Given the description of an element on the screen output the (x, y) to click on. 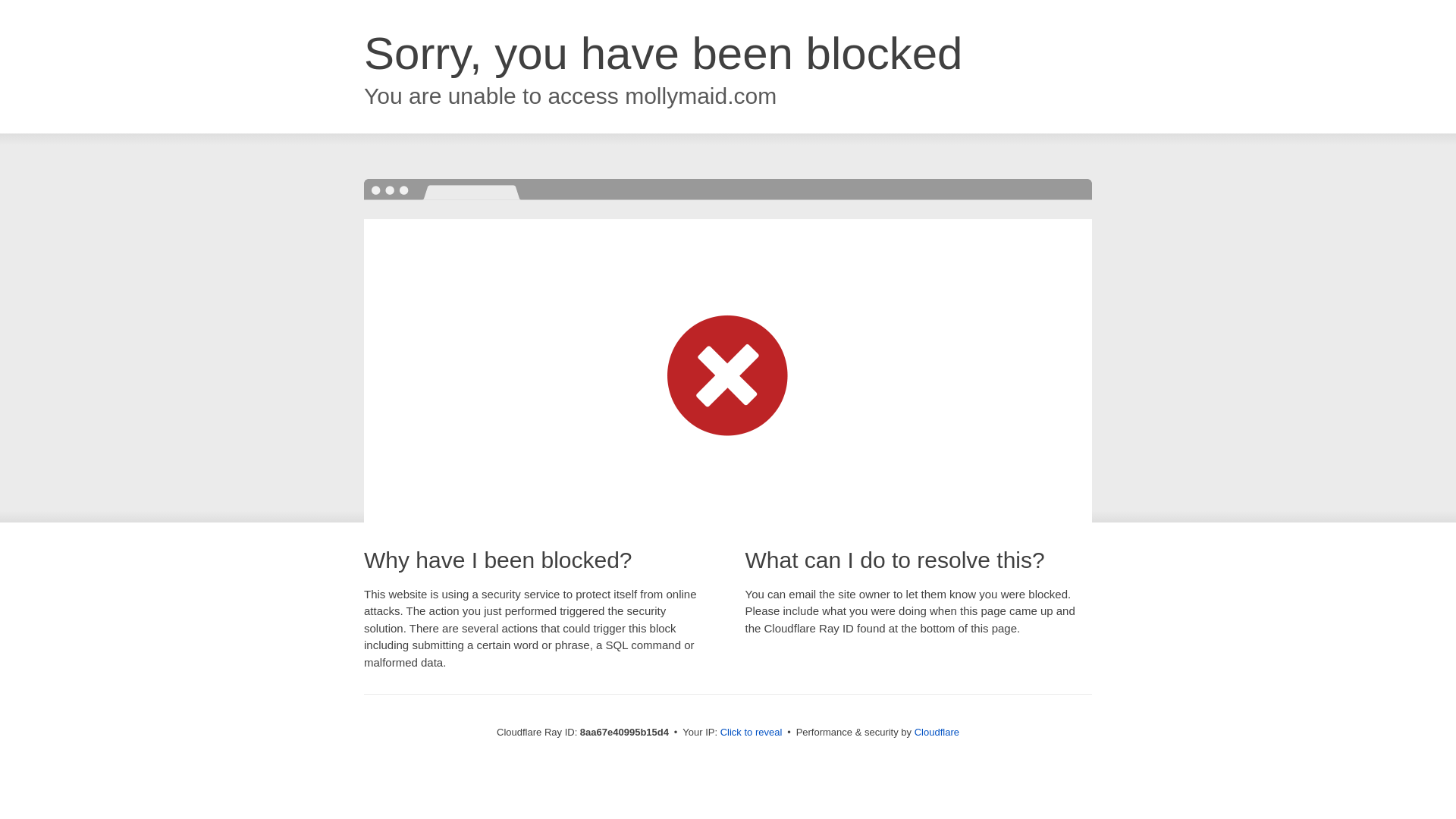
Cloudflare (936, 731)
Click to reveal (751, 732)
